Given the description of an element on the screen output the (x, y) to click on. 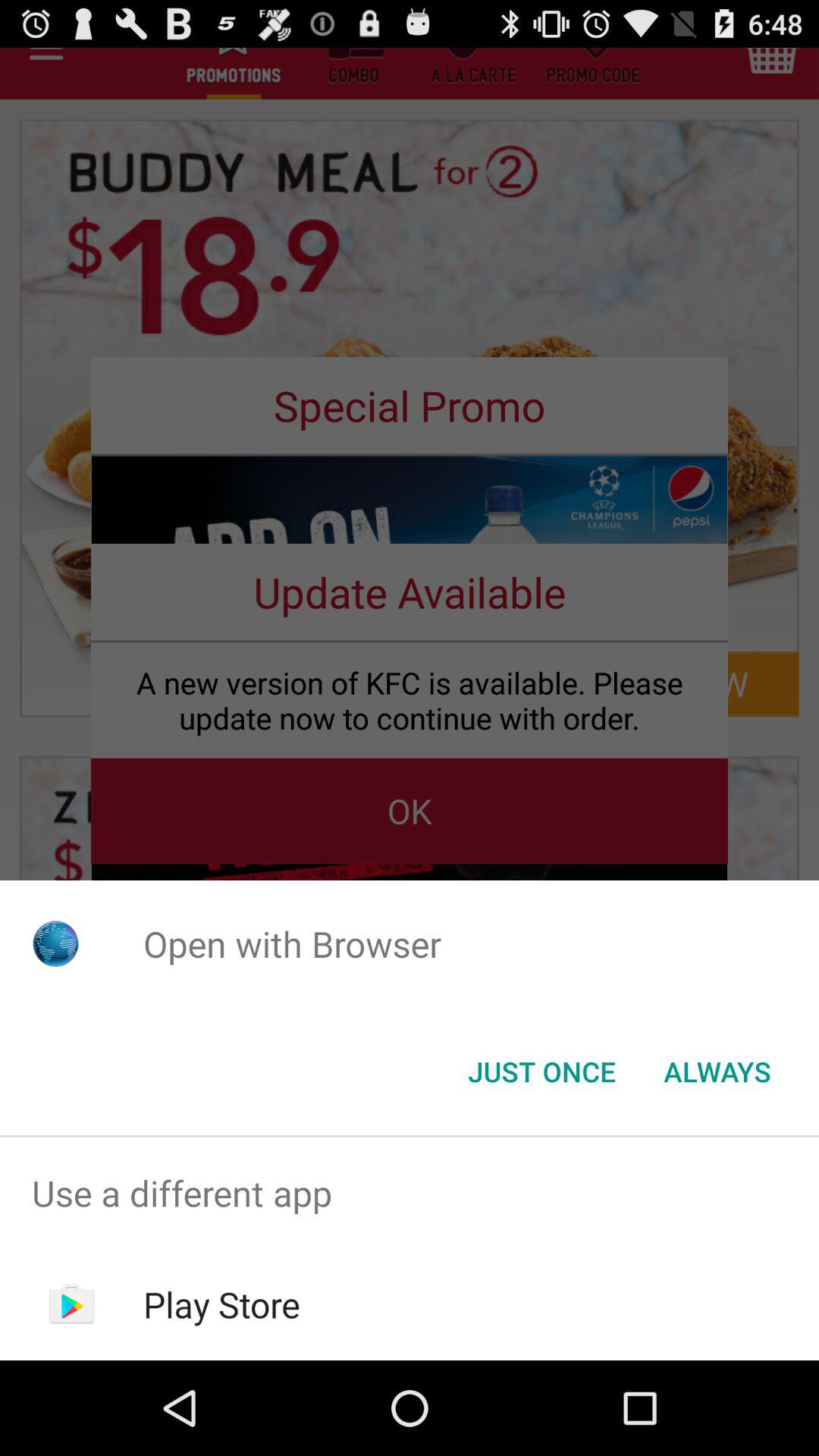
turn on icon at the bottom right corner (717, 1071)
